Given the description of an element on the screen output the (x, y) to click on. 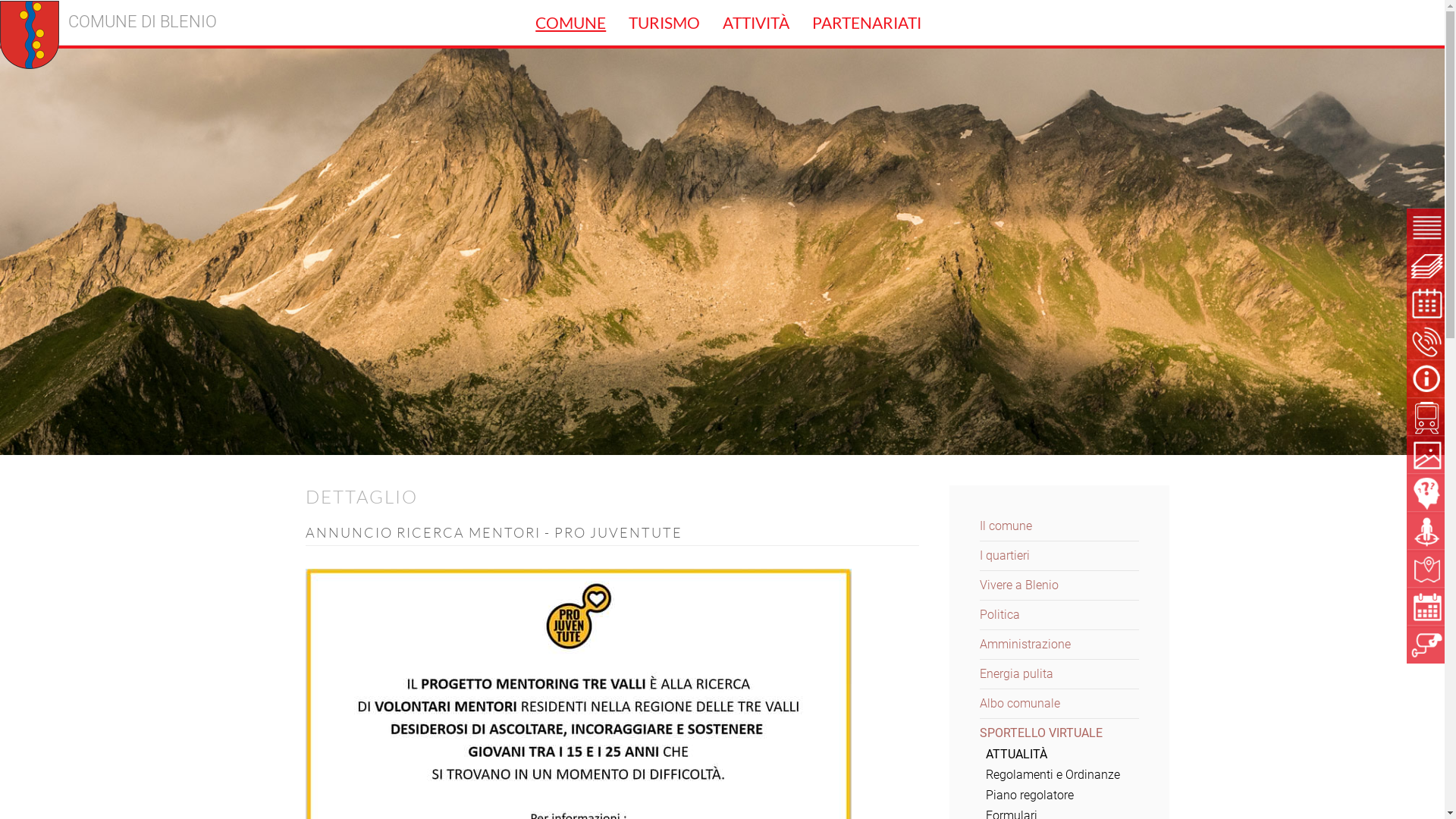
Annuncio Element type: hover (577, 721)
SPORTELLO VIRTUALE Element type: text (1040, 732)
I quartieri Element type: text (1004, 555)
Piano regolatore Element type: text (1029, 794)
Amministrazione Element type: text (1024, 644)
Albo comunale Element type: text (1019, 703)
Il comune Element type: text (1005, 525)
Vivere a Blenio Element type: text (1018, 584)
Politica Element type: text (999, 614)
Regolamenti e Ordinanze Element type: text (1052, 774)
Energia pulita Element type: text (1016, 673)
